Given the description of an element on the screen output the (x, y) to click on. 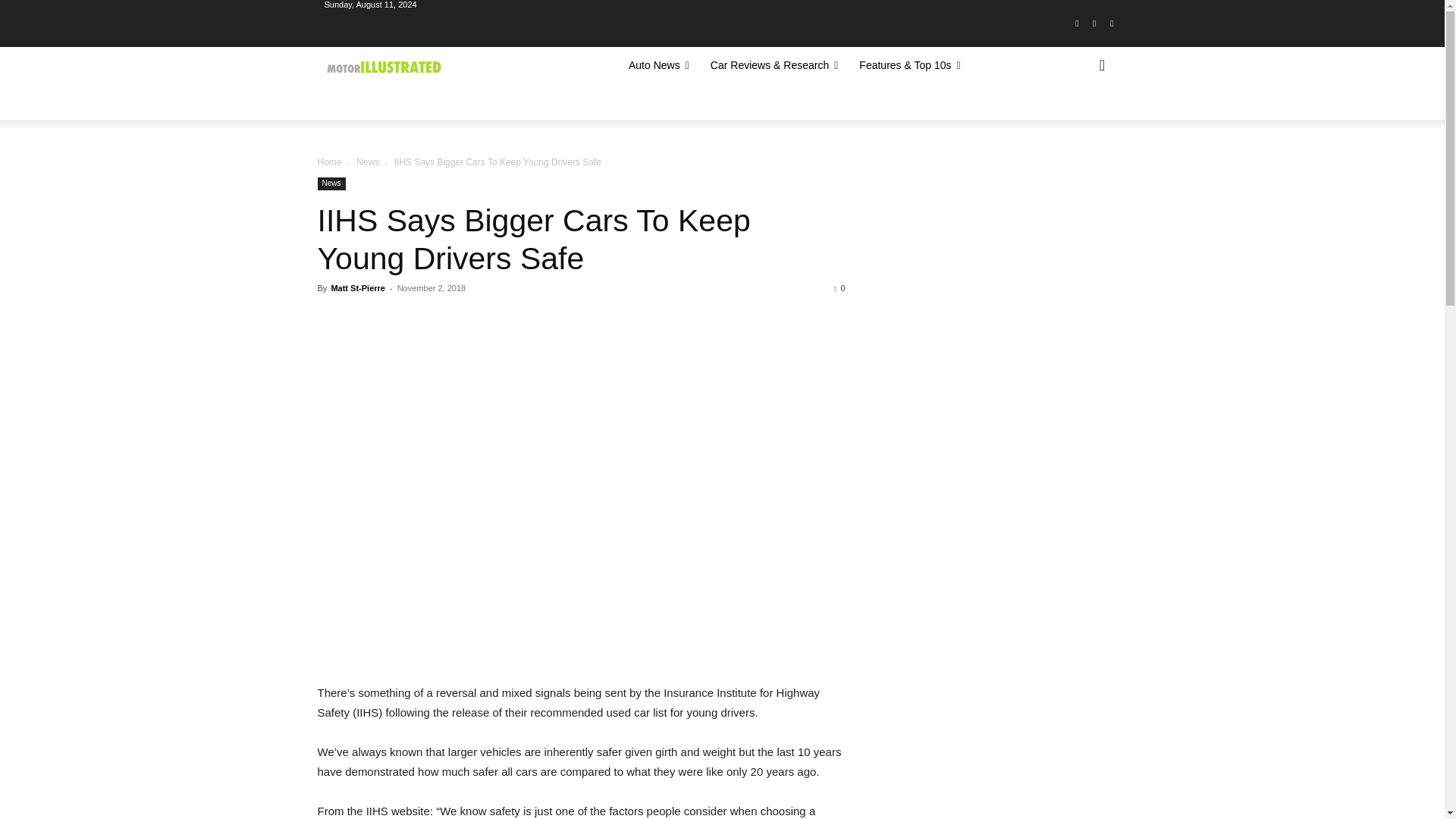
View all posts in News (367, 162)
Instagram (1094, 23)
Youtube (1112, 23)
Facebook (1077, 23)
Auto News (658, 64)
